Given the description of an element on the screen output the (x, y) to click on. 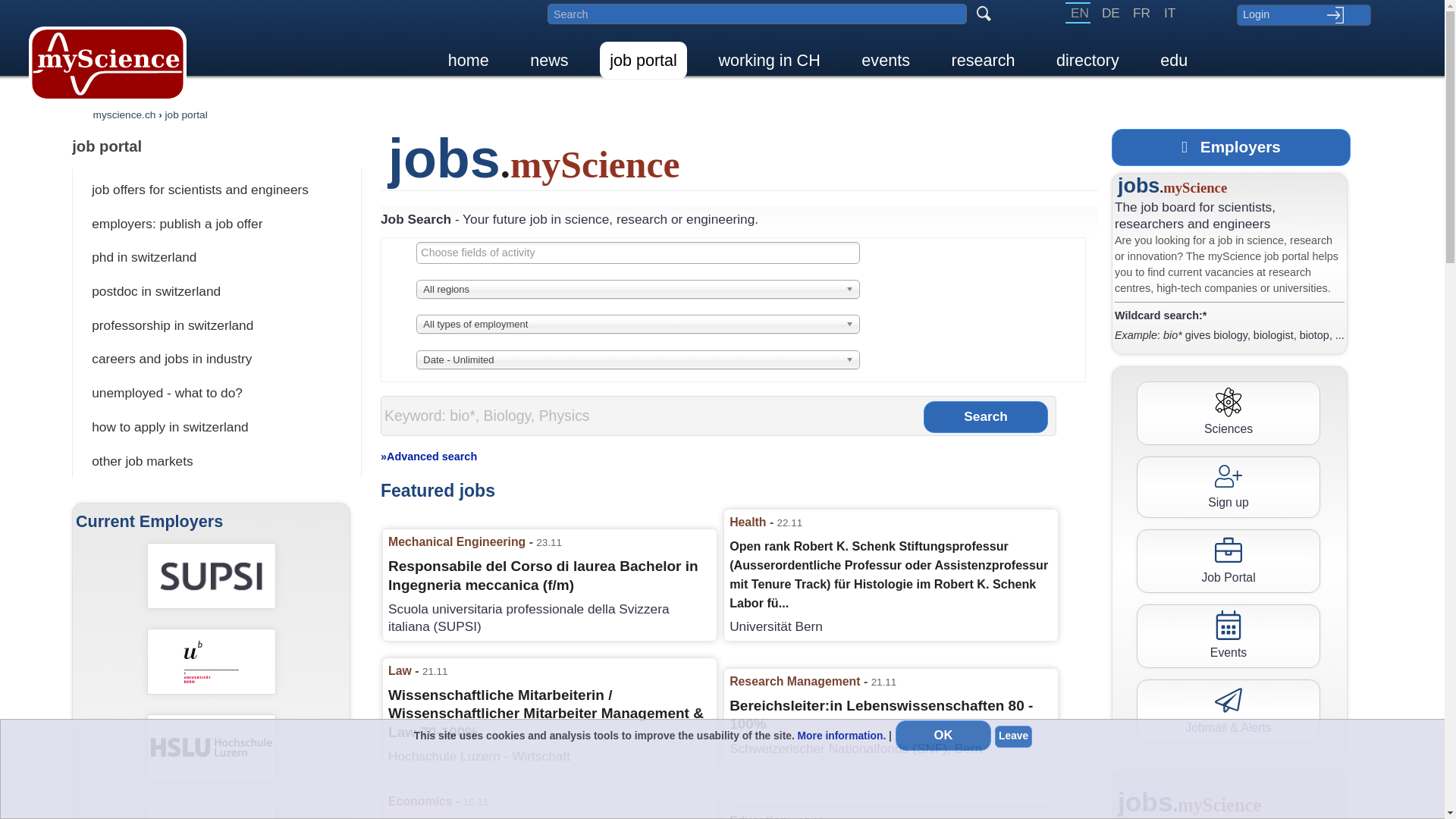
working in CH Element type: text (768, 59)
home Element type: text (468, 59)
FR Element type: text (1139, 12)
postdoc in switzerland Element type: text (217, 291)
All types of employment Element type: text (637, 323)
Leave Element type: text (1013, 735)
DE Element type: text (1108, 12)
IT Element type: text (1167, 12)
myscience.ch Element type: text (124, 114)
directory Element type: text (1087, 59)
More information. Element type: text (841, 735)
EN Element type: text (1077, 12)
phd in switzerland Element type: text (217, 257)
job offers for scientists and engineers Element type: text (217, 189)
other job markets Element type: text (217, 461)
jobs.myScience Element type: text (1171, 186)
Login Element type: text (1303, 14)
news Element type: text (548, 59)
research Element type: text (983, 59)
Login Element type: text (1303, 14)
Search in myscience.ch Element type: hover (756, 13)
unemployed - what to do? Element type: text (217, 392)
myScience Home Element type: hover (107, 63)
Date - Unlimited Element type: text (637, 359)
Events Element type: text (1228, 636)
how to apply in switzerland Element type: text (217, 427)
job portal Element type: text (643, 59)
Bereichsleiter:in Lebenswissenschaften 80 - 100% Element type: text (890, 715)
careers and jobs in industry Element type: text (217, 358)
Sign up Element type: text (1228, 486)
Search Element type: text (985, 417)
jobs.myScience Element type: text (534, 162)
events Element type: text (885, 59)
OK Element type: text (943, 735)
professorship in switzerland Element type: text (217, 325)
job portal Element type: text (217, 146)
All regions Element type: text (637, 288)
Jobmail & Alerts Element type: text (1228, 711)
Sciences Element type: text (1228, 413)
Job Portal Element type: text (1228, 561)
edu Element type: text (1173, 59)
employers: publish a job offer Element type: text (217, 223)
Hochschule Luzern - Wirtschaft Element type: hover (211, 746)
job portal Element type: text (186, 114)
